Given the description of an element on the screen output the (x, y) to click on. 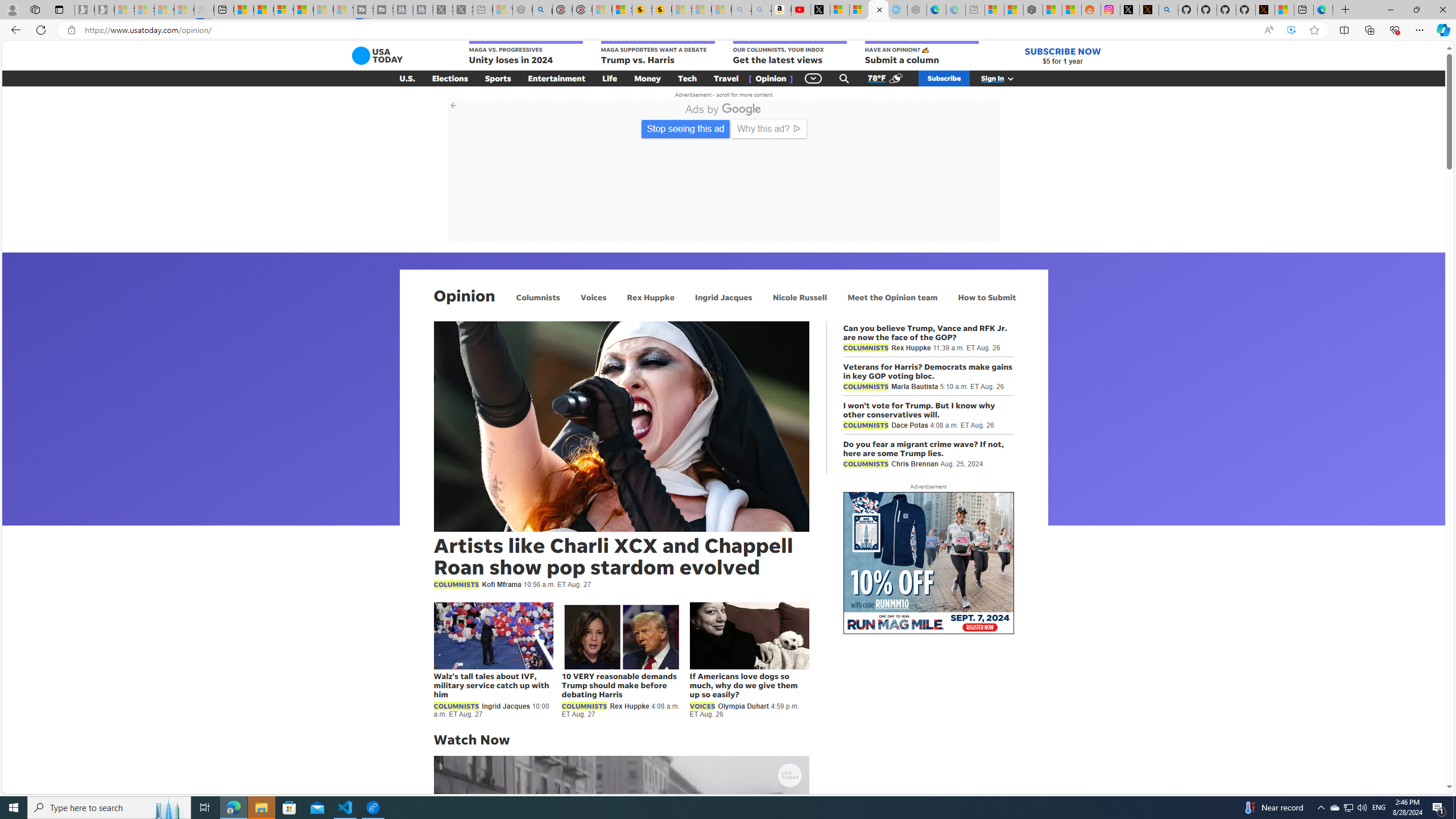
Rex Huppke (650, 296)
Subscribe (943, 78)
X Privacy Policy (1264, 9)
Class: gnt_n_se_a_svg (844, 78)
